Given the description of an element on the screen output the (x, y) to click on. 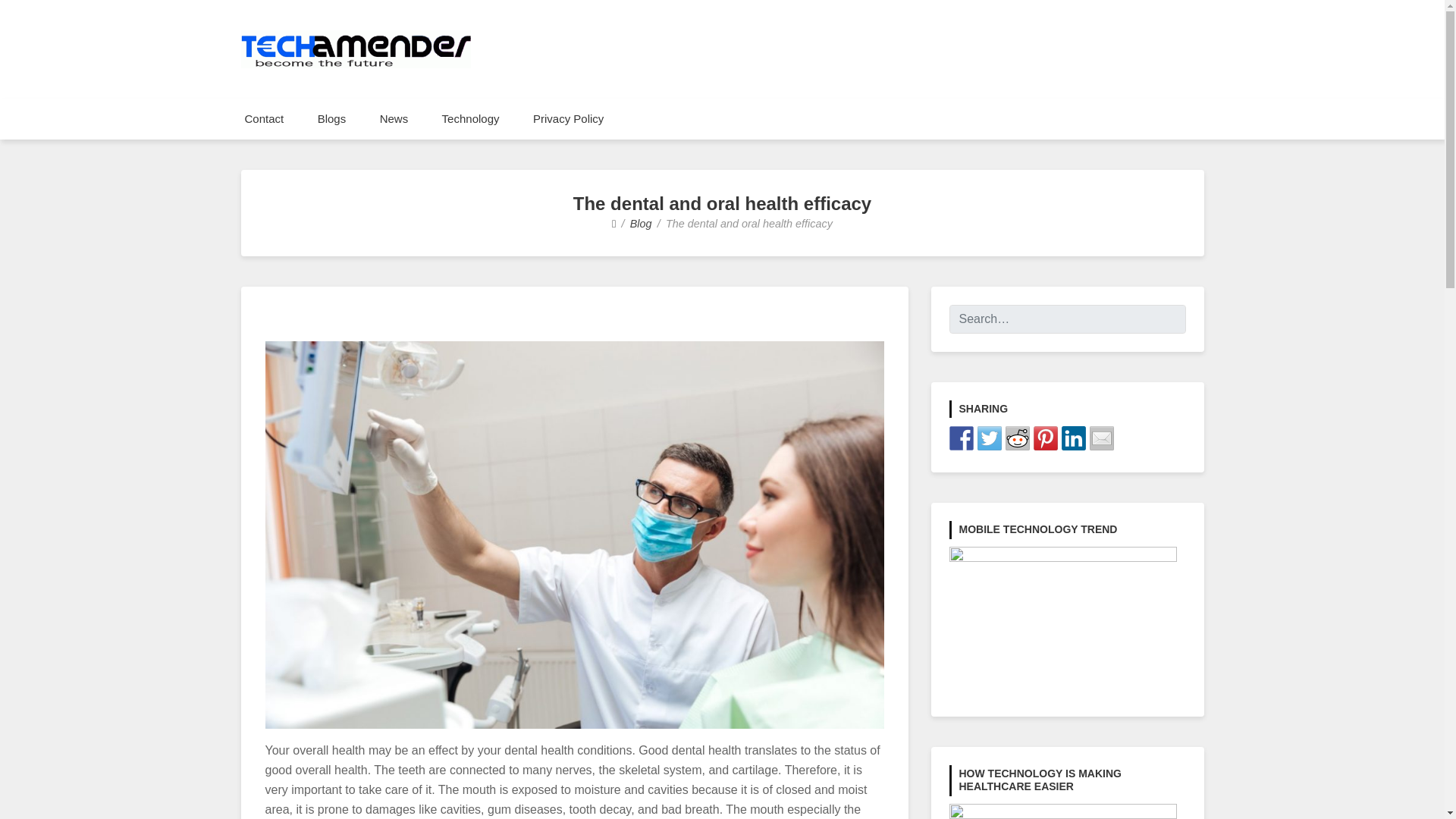
Technology (470, 118)
Share on Facebook (961, 437)
techamender (339, 87)
Share on Linkedin (1073, 437)
Privacy Policy (568, 118)
Blogs (331, 118)
Contact (263, 118)
Share by email (1101, 437)
Share on Twitter (988, 437)
Share on Reddit (1017, 437)
News (394, 118)
Pin it with Pinterest (1044, 437)
Blog (641, 223)
